Given the description of an element on the screen output the (x, y) to click on. 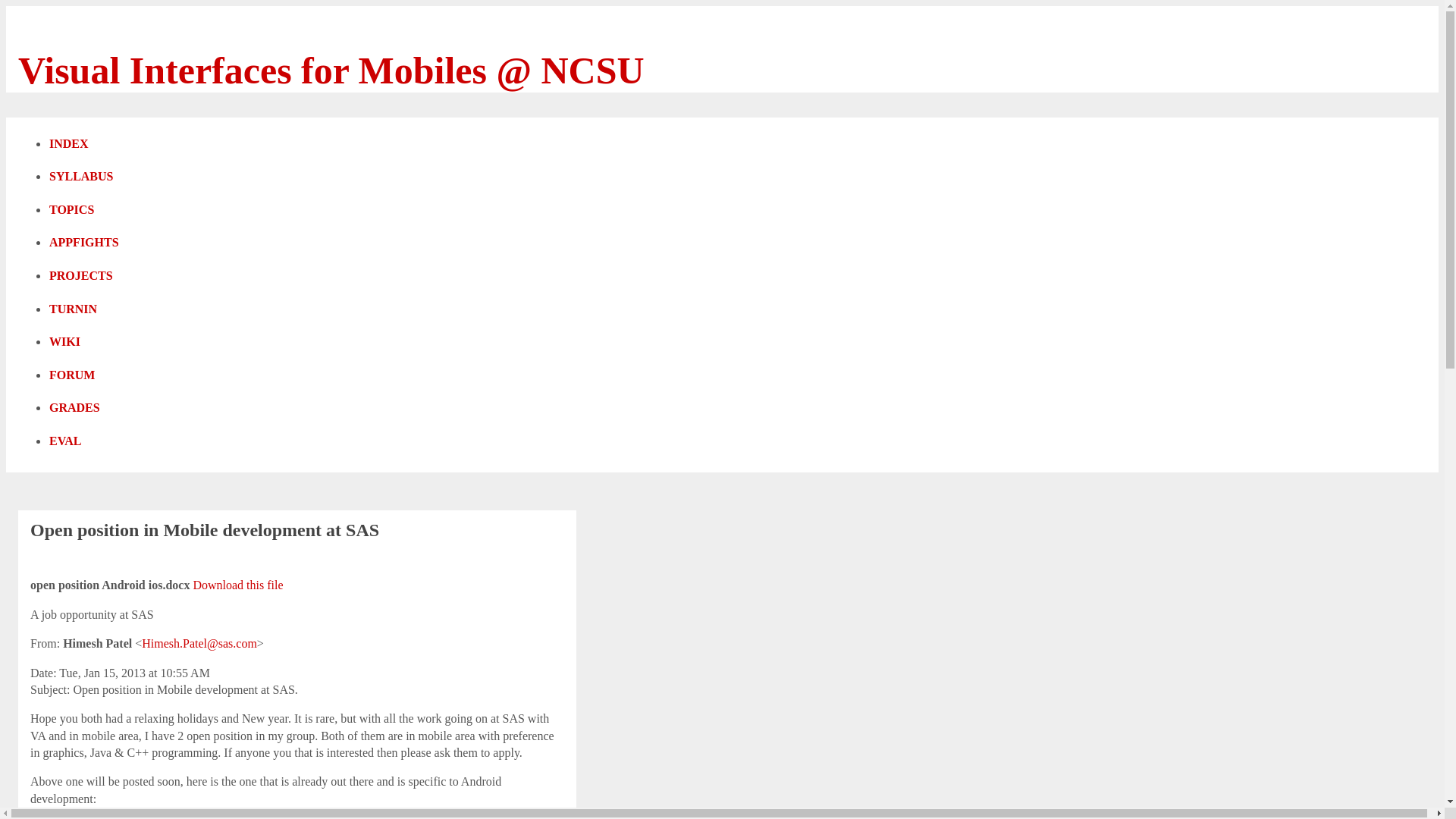
TURNIN (81, 311)
PROJECTS (89, 277)
INDEX (77, 145)
SYLLABUS (89, 179)
APPFIGHTS (92, 245)
WIKI (73, 344)
EVAL (74, 443)
GRADES (82, 410)
TOPICS (80, 212)
FORUM (80, 377)
